Given the description of an element on the screen output the (x, y) to click on. 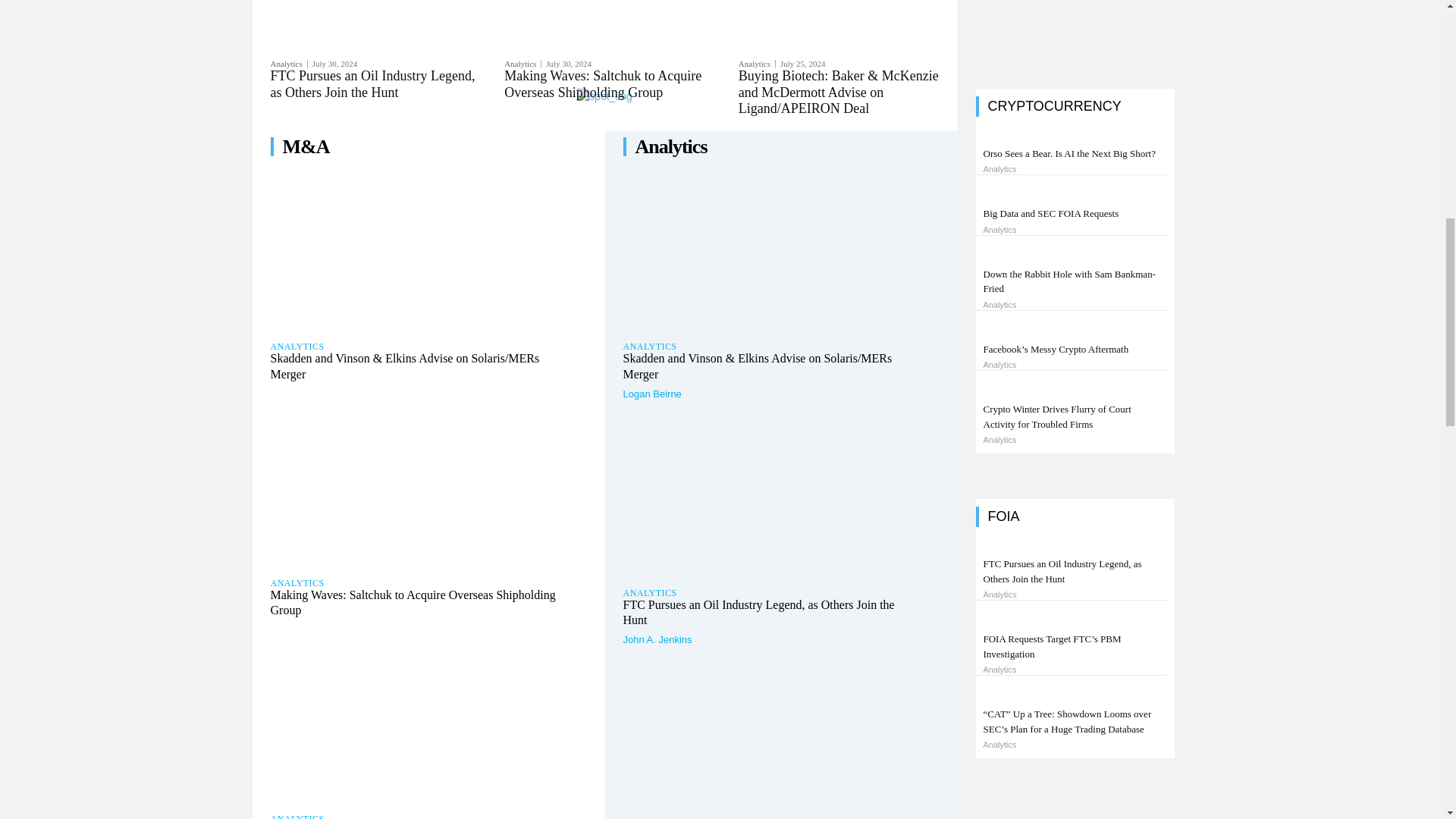
FTC Pursues an Oil Industry Legend, as Others Join the Hunt (371, 83)
Analytics (522, 63)
Analytics (288, 63)
Making Waves: Saltchuk to Acquire Overseas Shipholding Group (602, 83)
Making Waves: Saltchuk to Acquire Overseas Shipholding Group (427, 489)
Analytics (757, 63)
Making Waves: Saltchuk to Acquire Overseas Shipholding Group (602, 83)
FTC Pursues an Oil Industry Legend, as Others Join the Hunt (371, 83)
